Given the description of an element on the screen output the (x, y) to click on. 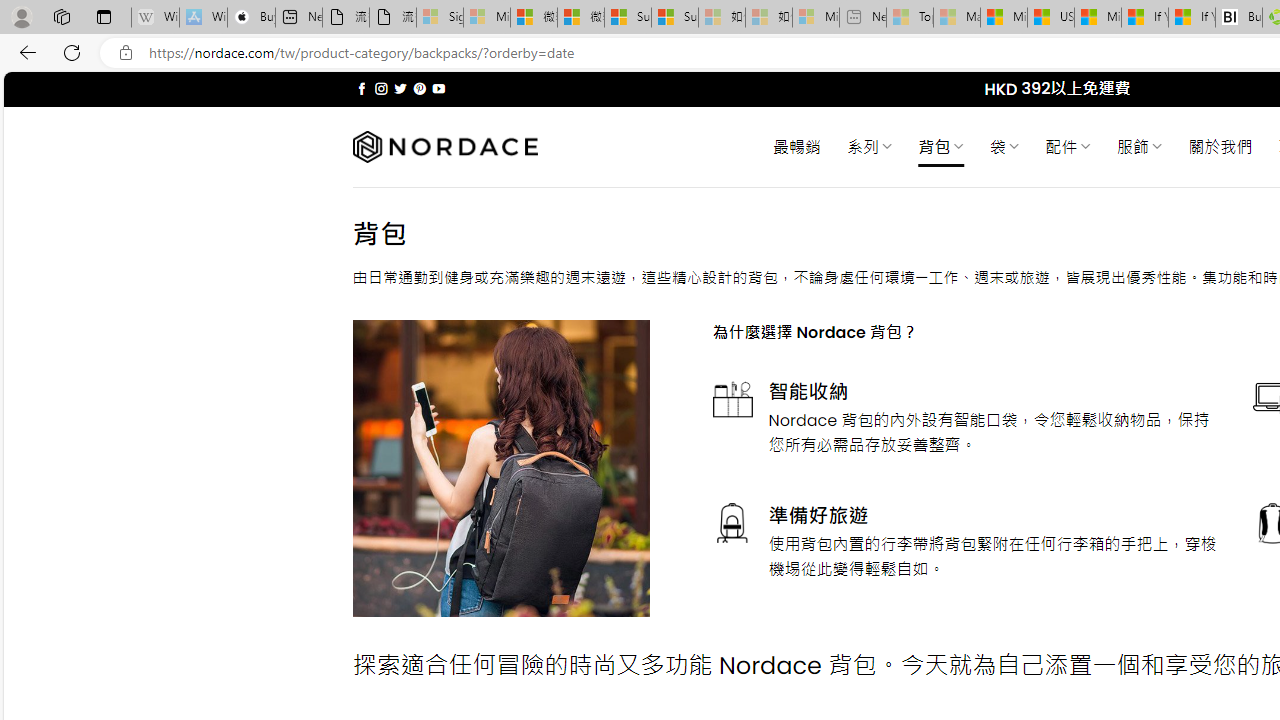
Follow on YouTube (438, 88)
US Heat Deaths Soared To Record High Last Year (1050, 17)
Microsoft Services Agreement - Sleeping (486, 17)
Follow on Instagram (381, 88)
